Given the description of an element on the screen output the (x, y) to click on. 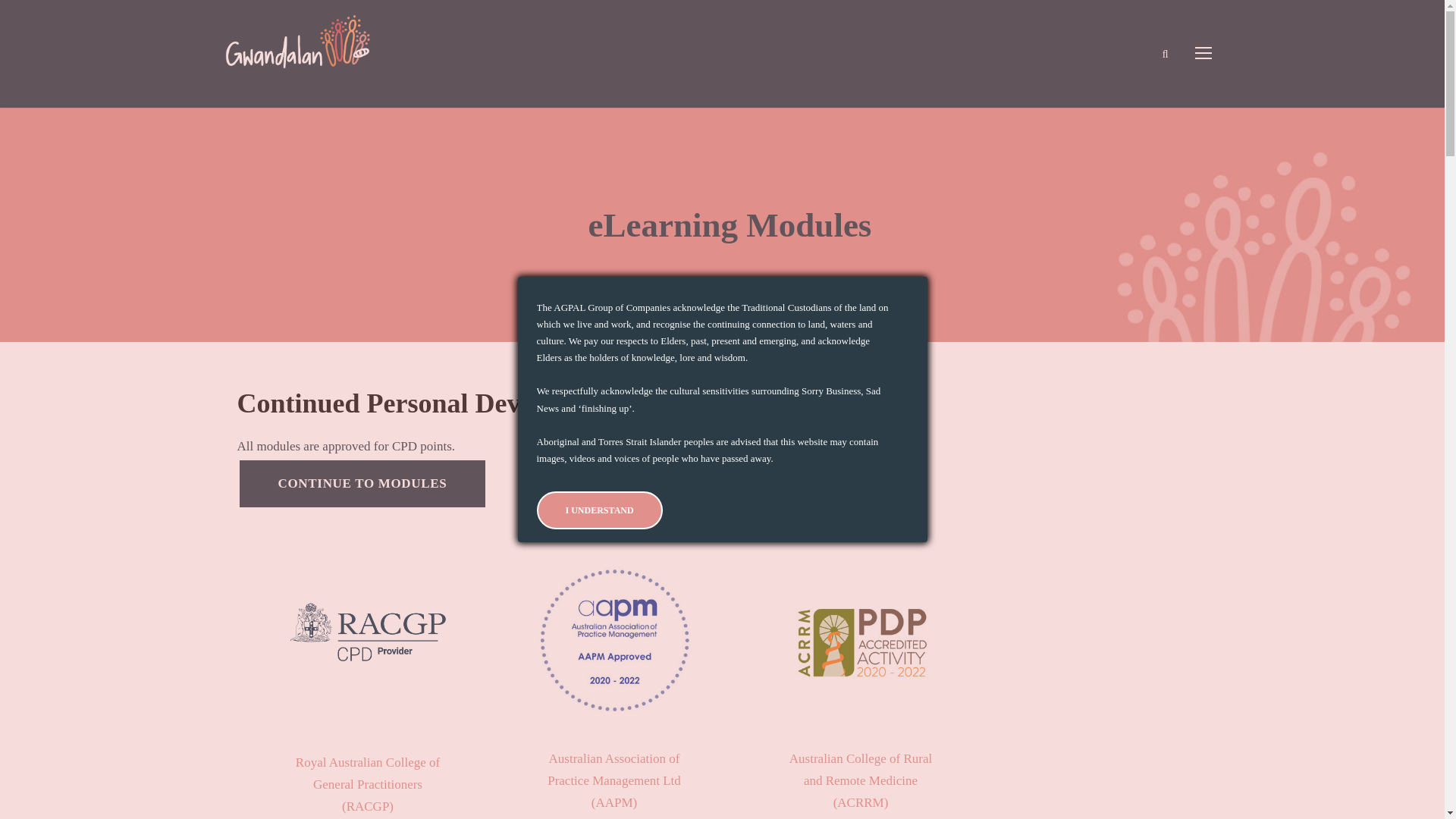
CONTINUE TO MODULES (361, 483)
I UNDERSTAND (599, 510)
